Given the description of an element on the screen output the (x, y) to click on. 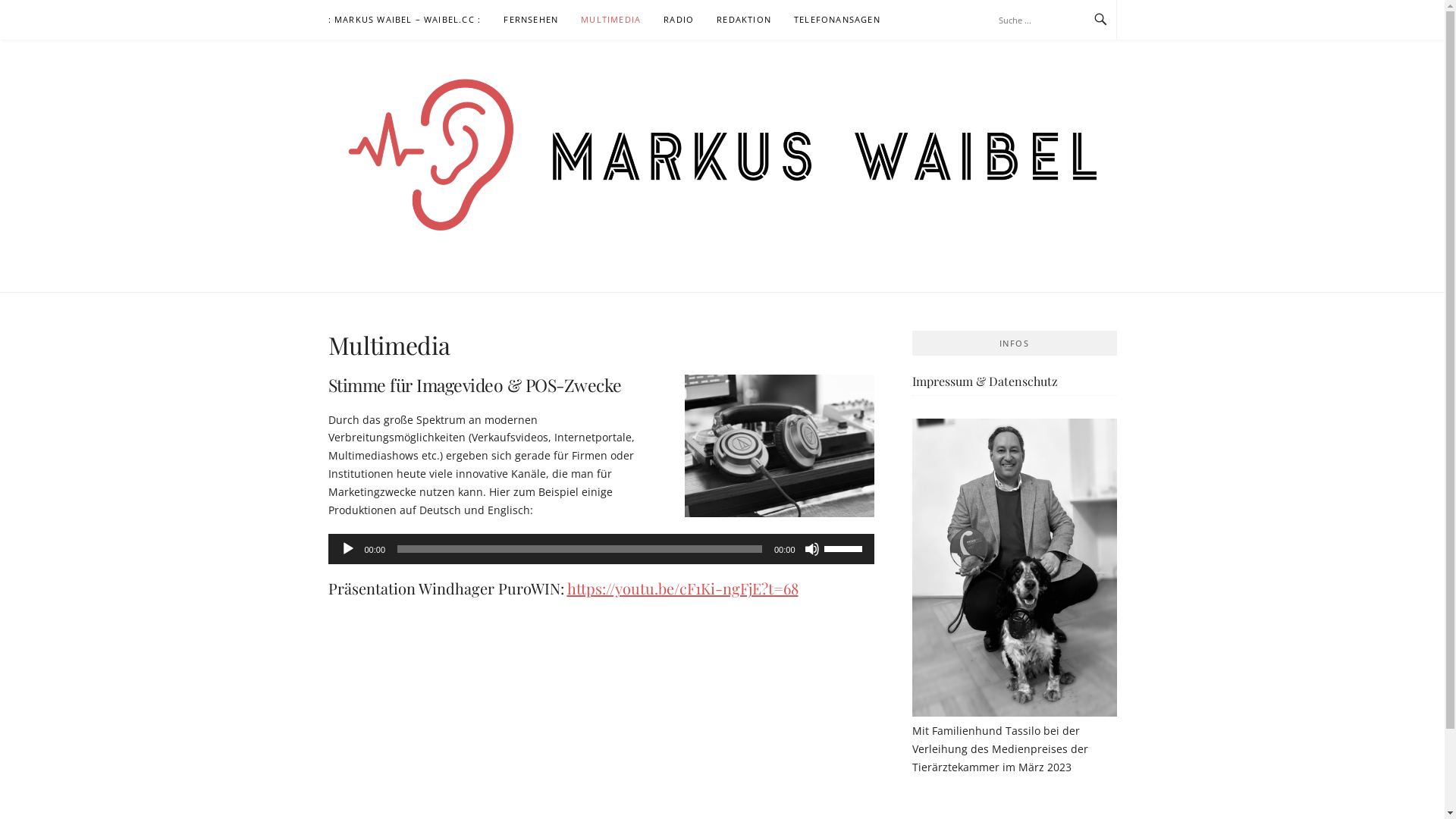
https://youtu.be/cF1Ki-ngFjE?t=68 Element type: text (682, 587)
MULTIMEDIA Element type: text (610, 19)
REDAKTION Element type: text (743, 19)
FERNSEHEN Element type: text (530, 19)
Stumm Element type: hover (811, 548)
RADIO Element type: text (678, 19)
Impressum & Datenschutz Element type: text (984, 381)
MARKUS WAIBEL Element type: text (483, 276)
Abspielen Element type: hover (346, 548)
TELEFONANSAGEN Element type: text (836, 19)
